Given the description of an element on the screen output the (x, y) to click on. 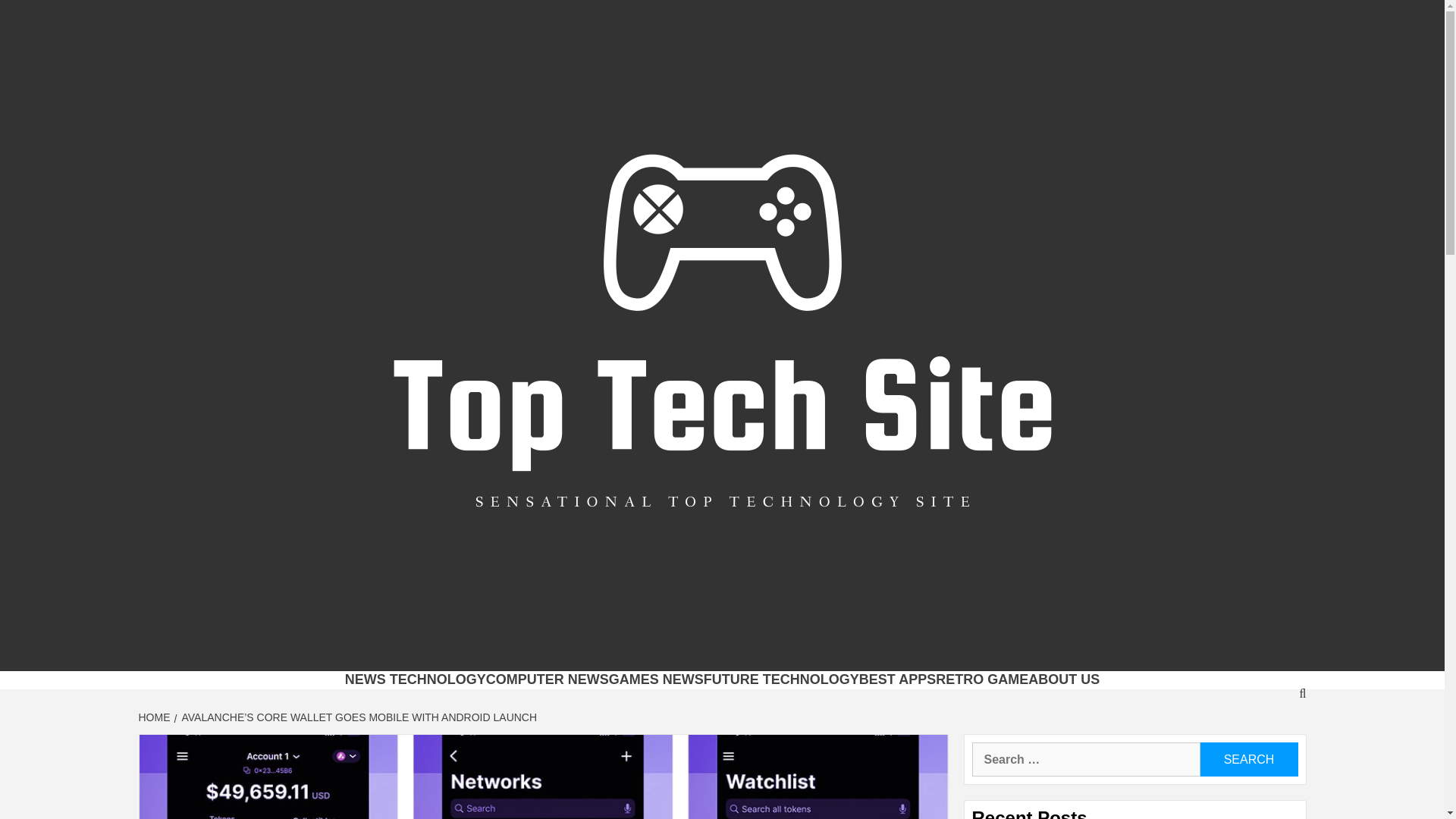
ABOUT US (1063, 679)
NEWS TECHNOLOGY (415, 679)
COMPUTER NEWS (547, 679)
Search (1248, 759)
RETRO GAME (981, 679)
TOP TECHNOLOGY SITE (590, 651)
Search (1248, 759)
GAMES NEWS (655, 679)
FUTURE TECHNOLOGY (781, 679)
HOME (155, 717)
